Given the description of an element on the screen output the (x, y) to click on. 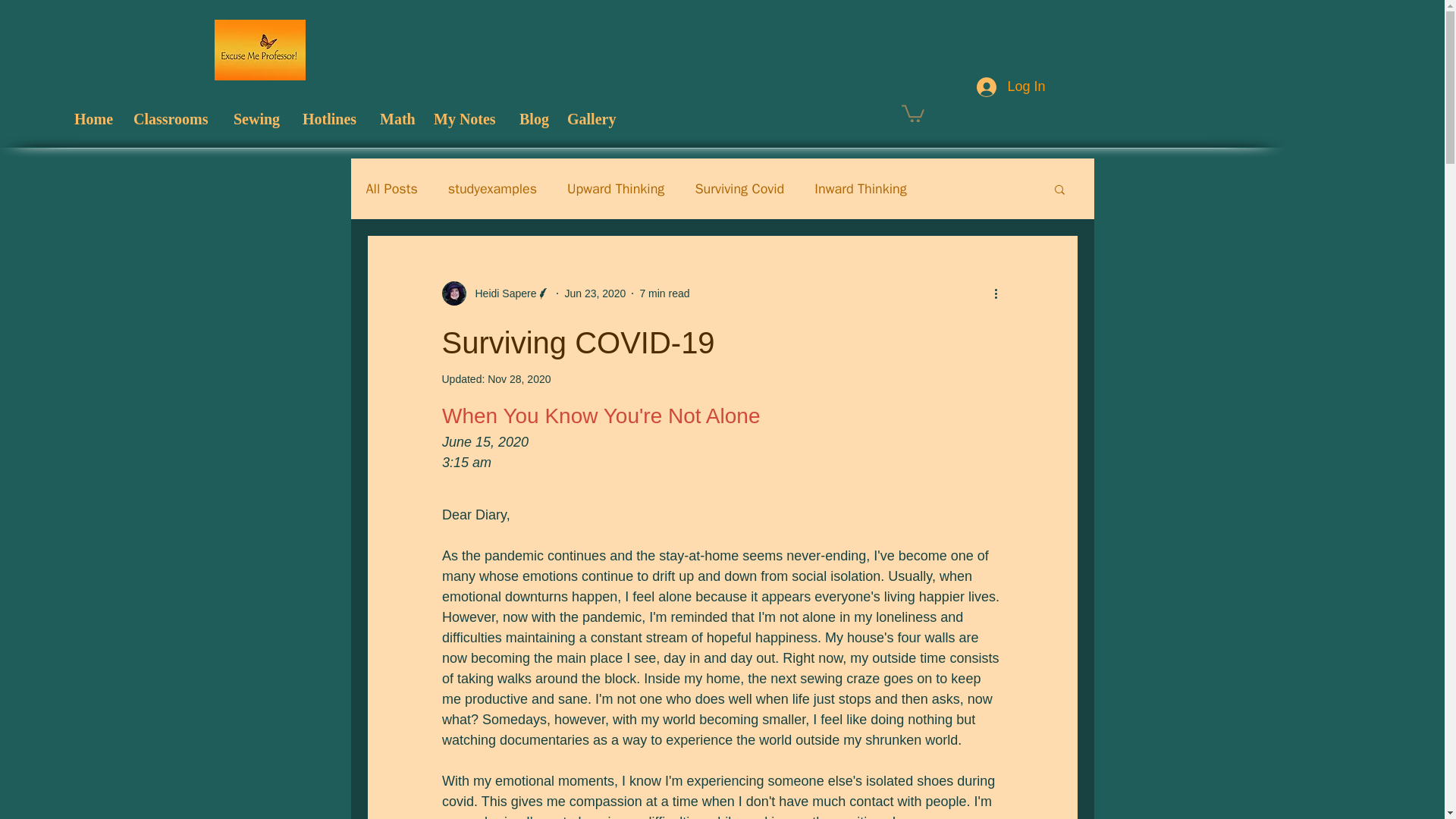
Heidi Sapere (500, 293)
Nov 28, 2020 (518, 378)
Hotlines (333, 118)
Home (95, 118)
Blog (535, 118)
Jun 23, 2020 (595, 293)
My Notes (469, 118)
7 min read (663, 293)
Sewing (260, 118)
